Given the description of an element on the screen output the (x, y) to click on. 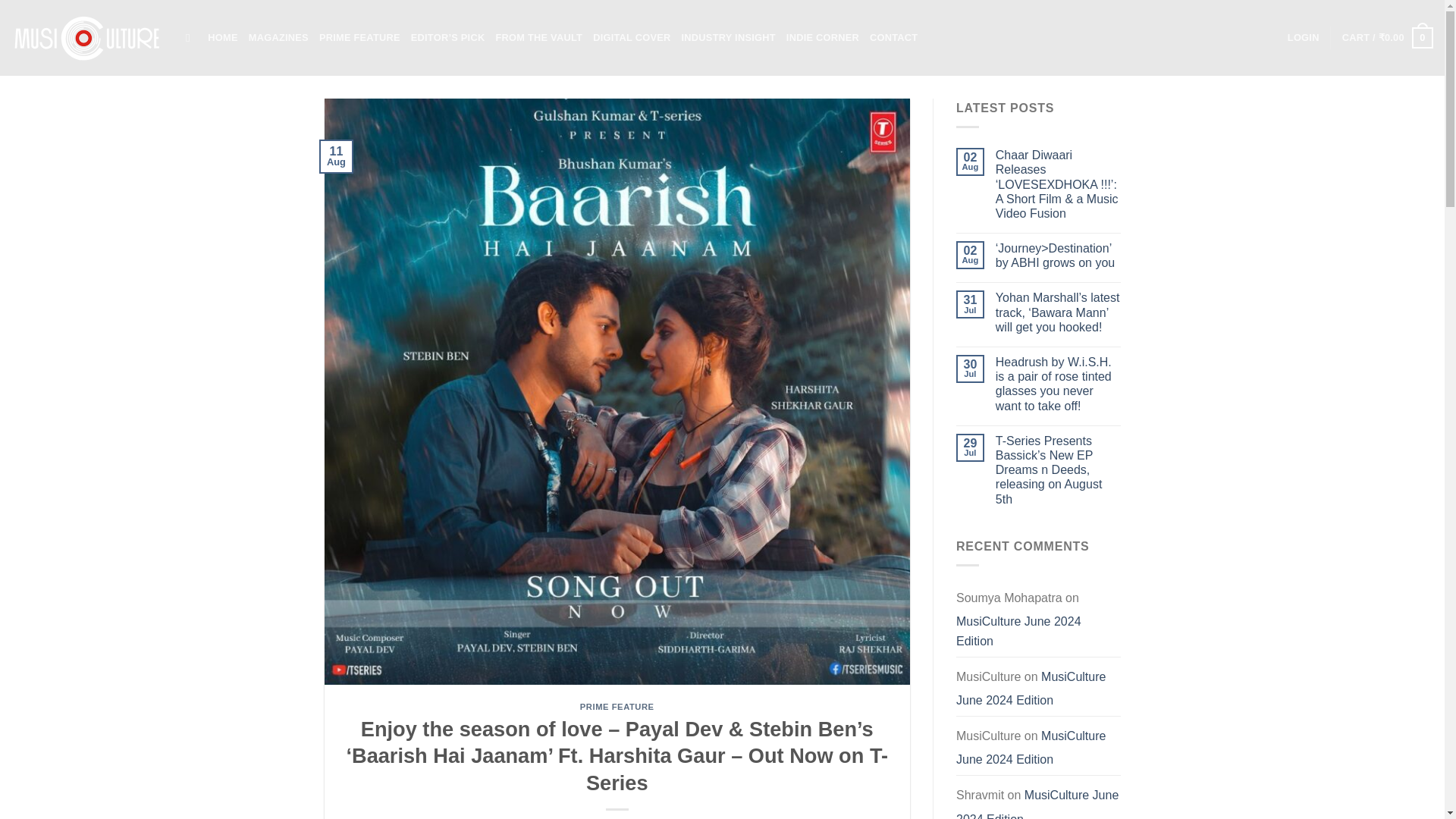
MAGAZINES (278, 37)
CONTACT (893, 37)
LOGIN (1303, 37)
DIGITAL COVER (630, 37)
Cart (1387, 37)
PRIME FEATURE (616, 706)
INDIE CORNER (822, 37)
MusiCulture (87, 38)
FROM THE VAULT (538, 37)
